Given the description of an element on the screen output the (x, y) to click on. 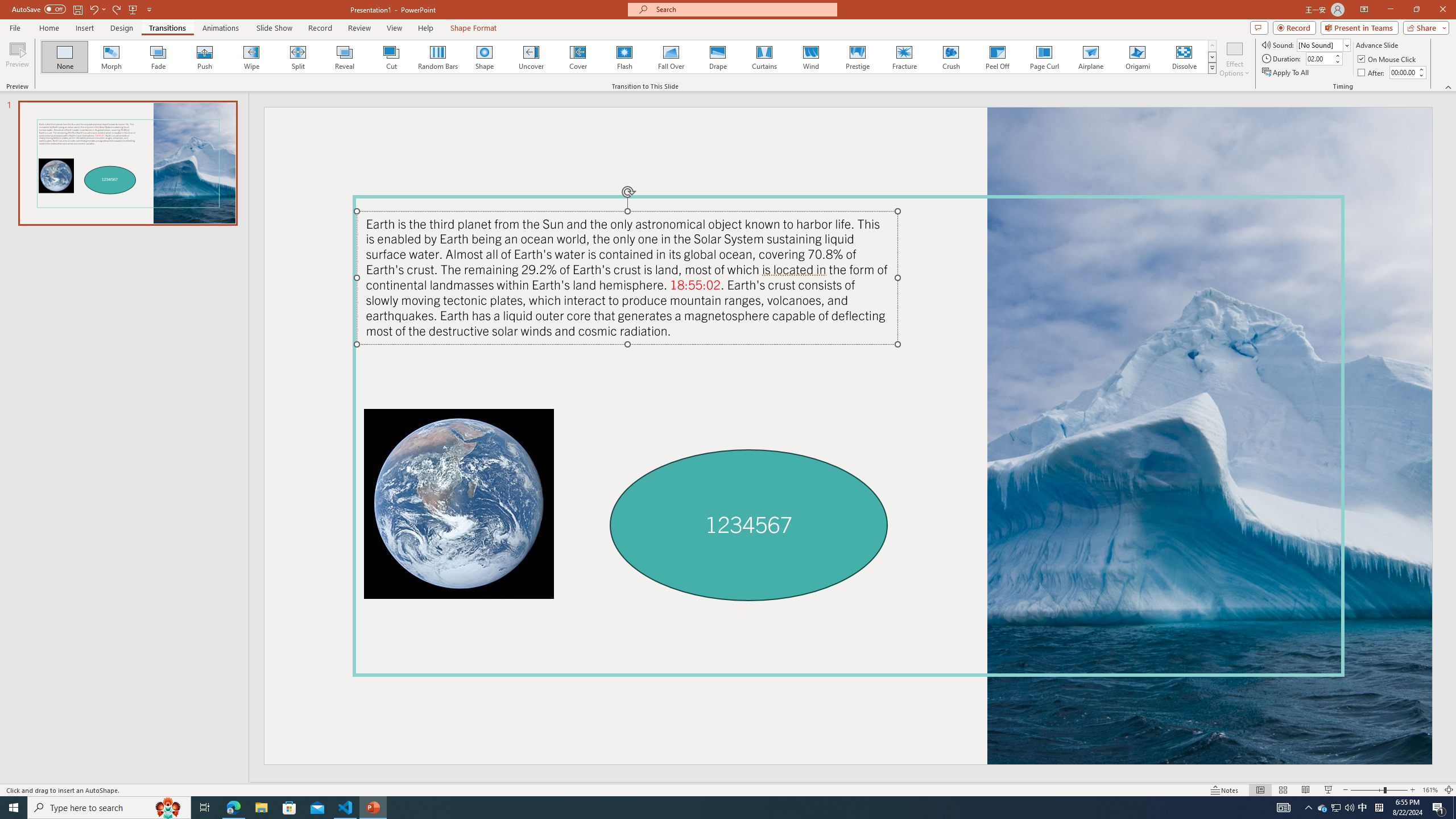
Sound (1324, 44)
Morph (111, 56)
Zoom 161% (1430, 790)
Curtains (764, 56)
Cover (577, 56)
Page Curl (1043, 56)
Peel Off (997, 56)
Drape (717, 56)
